Given the description of an element on the screen output the (x, y) to click on. 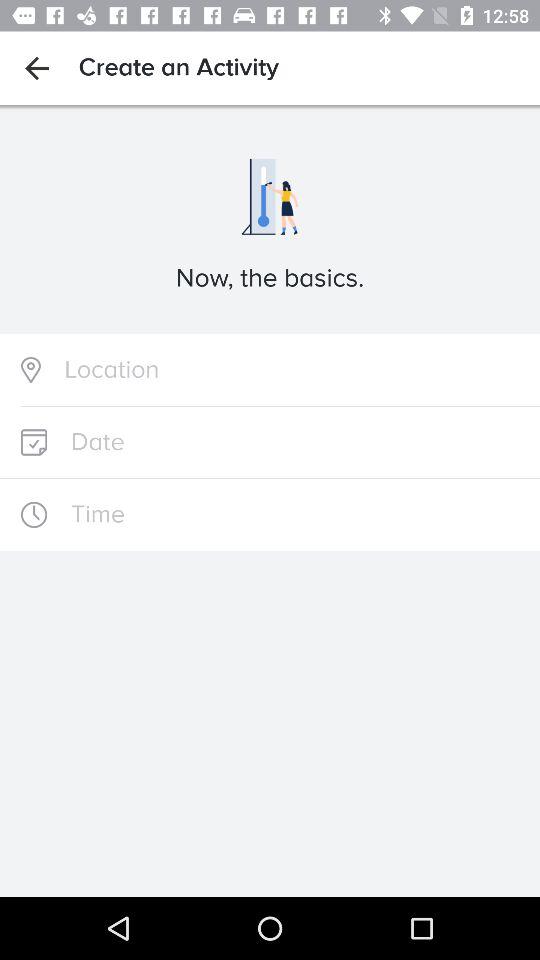
select the icon above the now, the basics. item (36, 68)
